Given the description of an element on the screen output the (x, y) to click on. 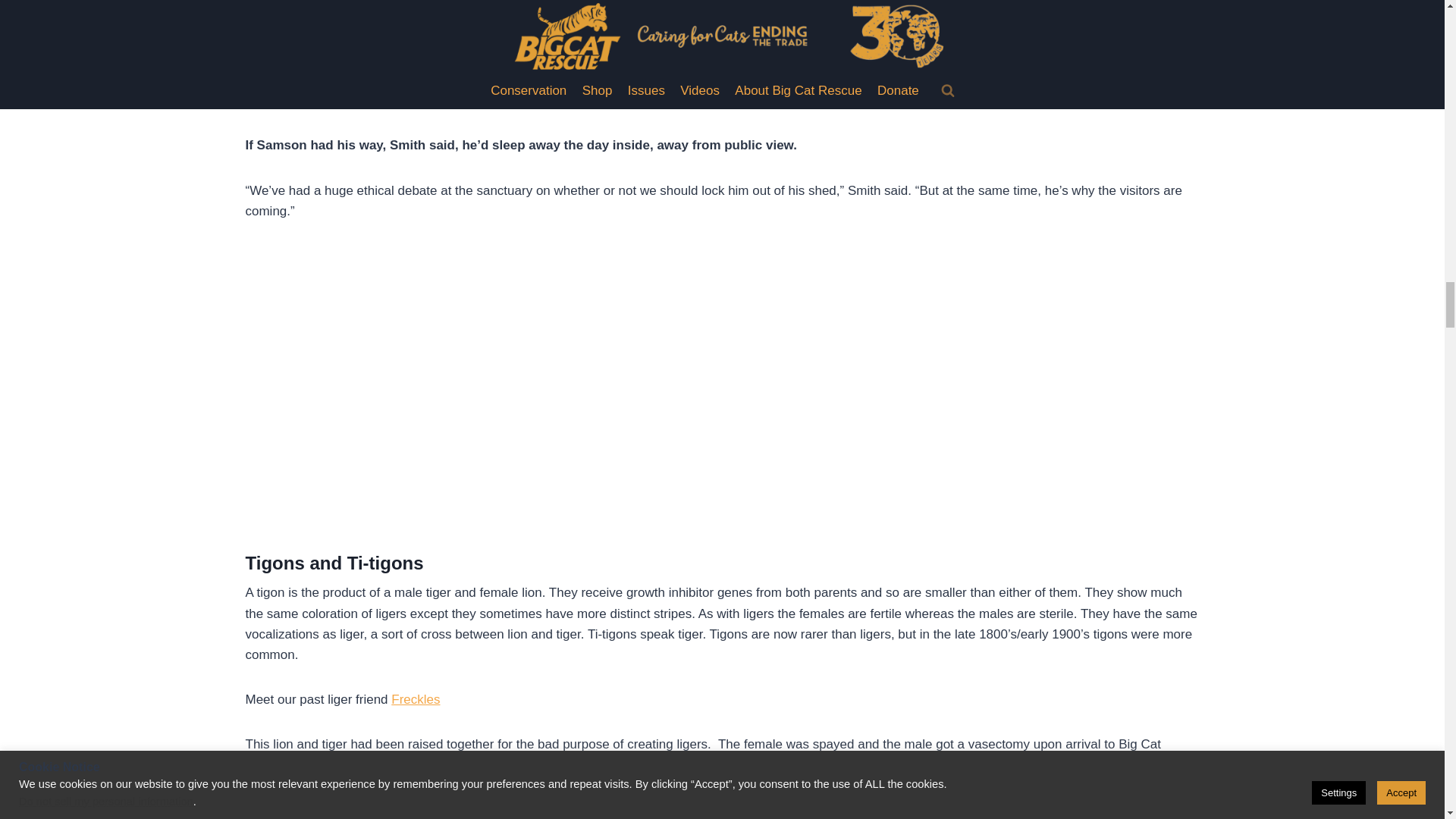
ligers (267, 806)
Freckles (415, 699)
